Given the description of an element on the screen output the (x, y) to click on. 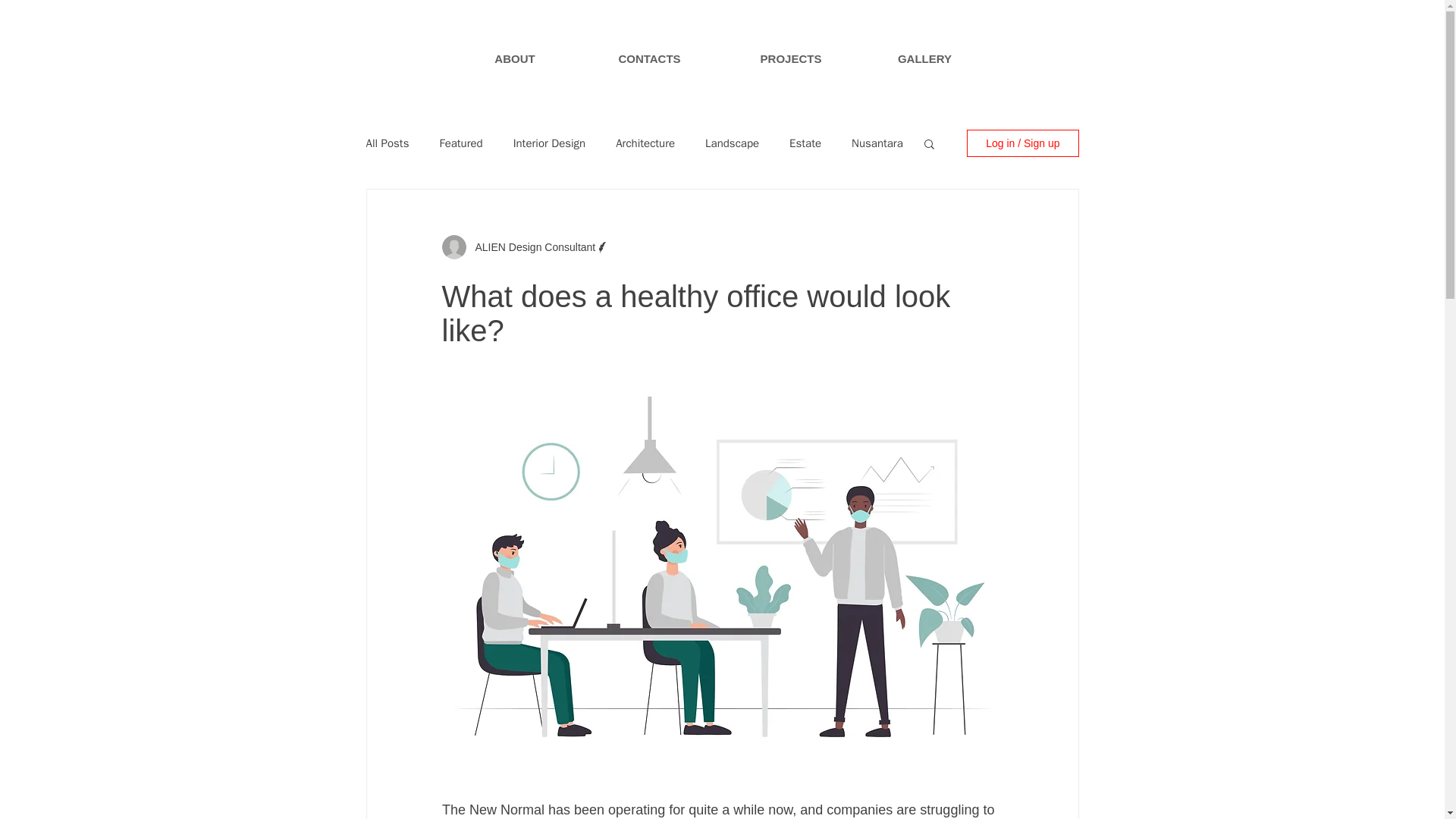
ALIEN Design Consultant (530, 247)
GALLERY (925, 58)
CONTACTS (649, 58)
Interior Design (549, 143)
Estate (805, 143)
Landscape (731, 143)
Nusantara (876, 143)
PROJECTS (790, 58)
ABOUT (514, 58)
All Posts (387, 143)
